Given the description of an element on the screen output the (x, y) to click on. 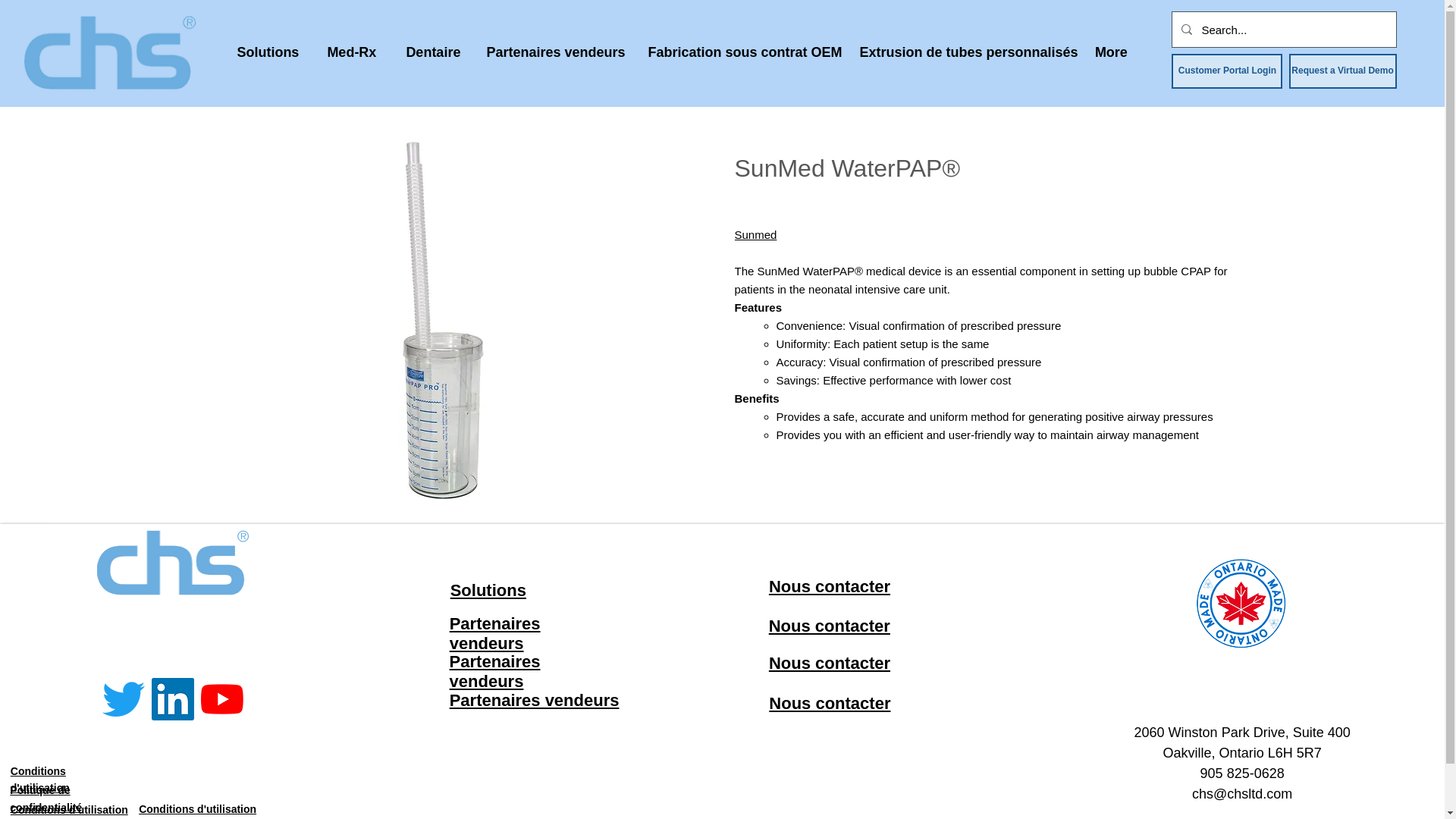
Dentaire (432, 52)
Solutions (267, 52)
Partenaires vendeurs (555, 52)
Fabrication sous contrat OEM (741, 52)
Med-Rx (351, 52)
